Given the description of an element on the screen output the (x, y) to click on. 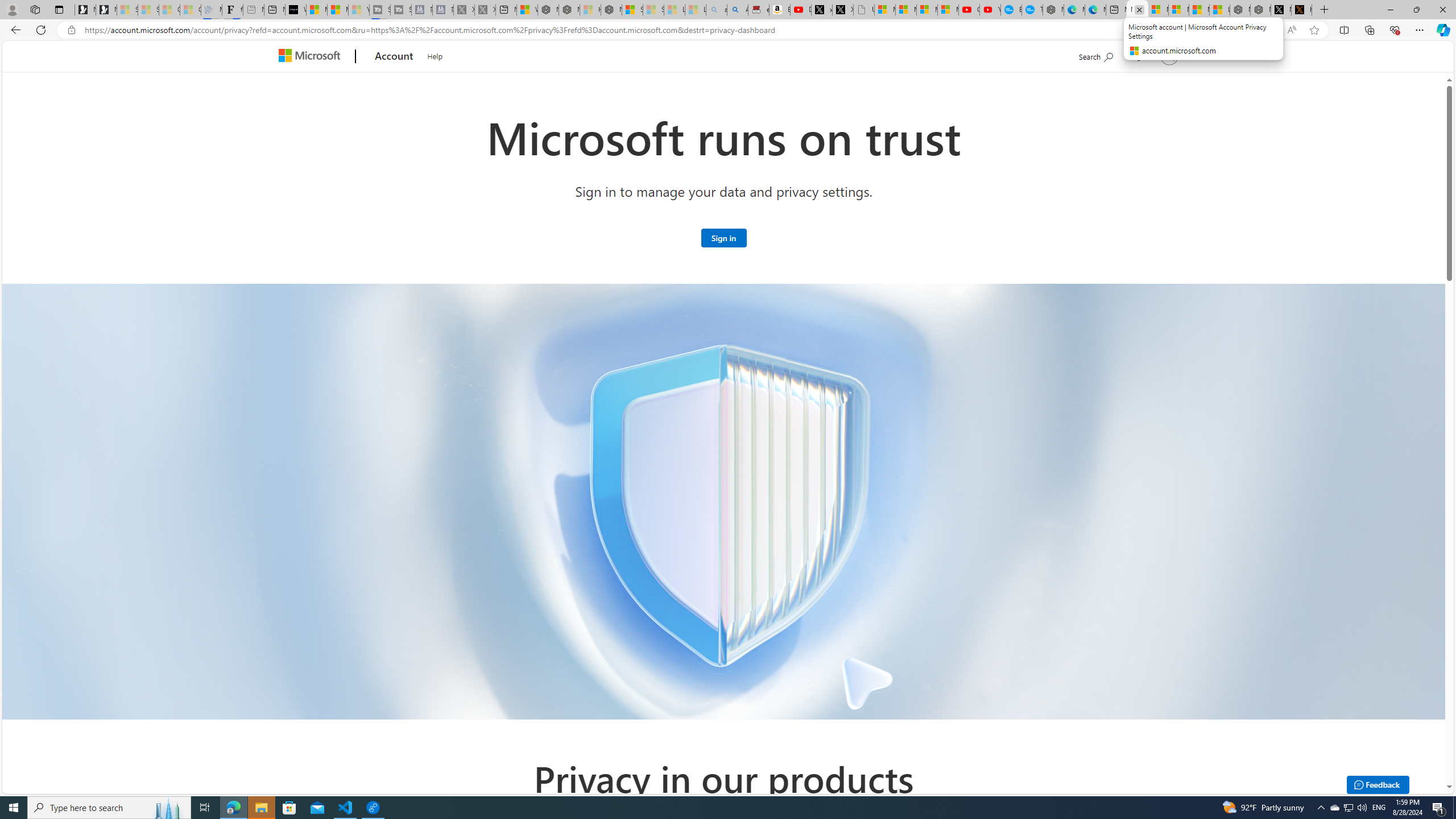
Split screen (1344, 29)
Browser essentials (1394, 29)
Nordace - Nordace has arrived Hong Kong (1053, 9)
View site information (70, 29)
New tab - Sleeping (253, 9)
The most popular Google 'how to' searches (1032, 9)
Microsoft Start Sports (316, 9)
Read aloud this page (Ctrl+Shift+U) (1291, 29)
